Given the description of an element on the screen output the (x, y) to click on. 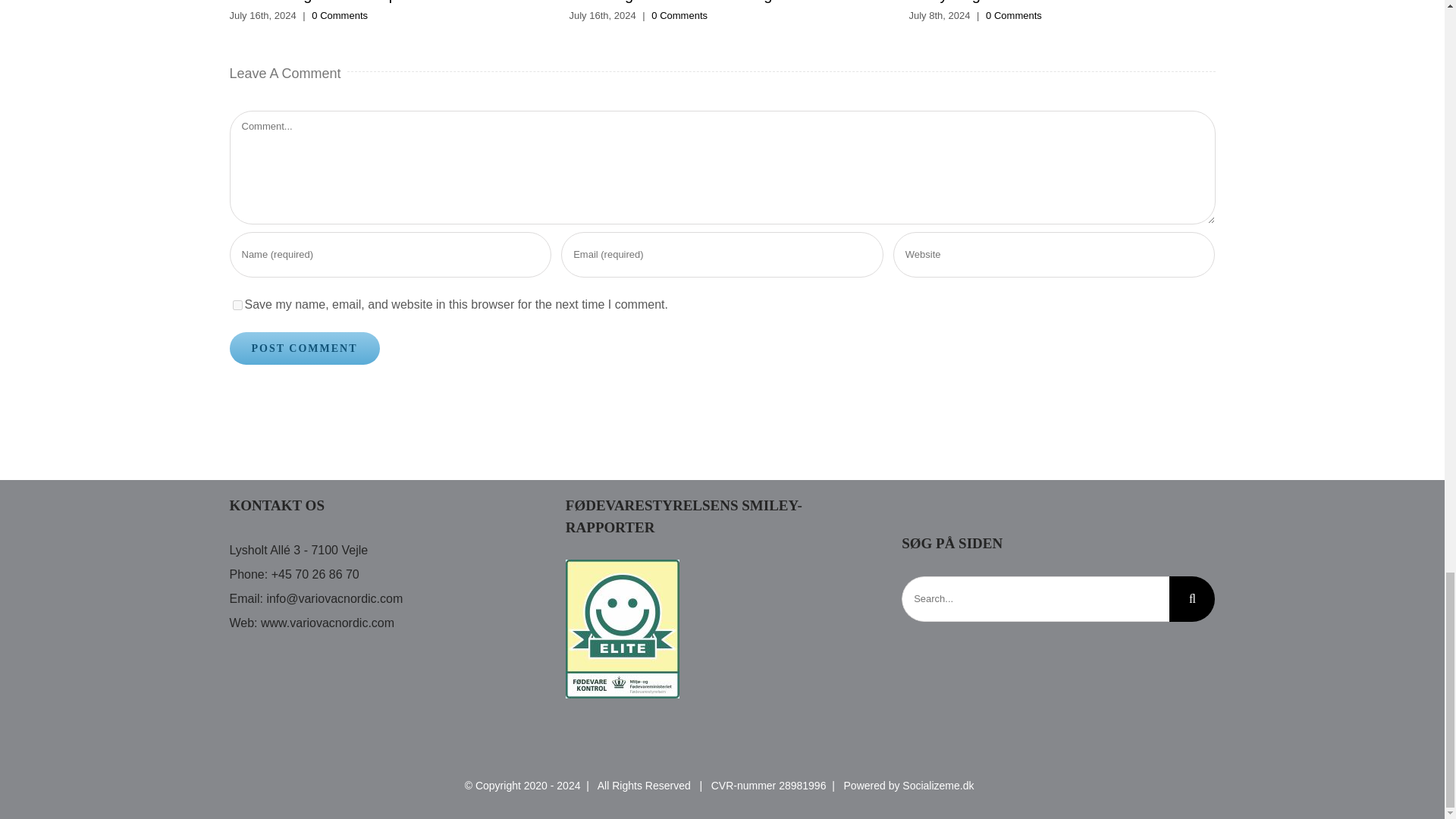
yes (236, 305)
Advantages of Online Meetings (673, 1)
Post Comment (303, 348)
Everything About VDRs (987, 1)
Global Mergers and Acquisitions (337, 1)
